Given the description of an element on the screen output the (x, y) to click on. 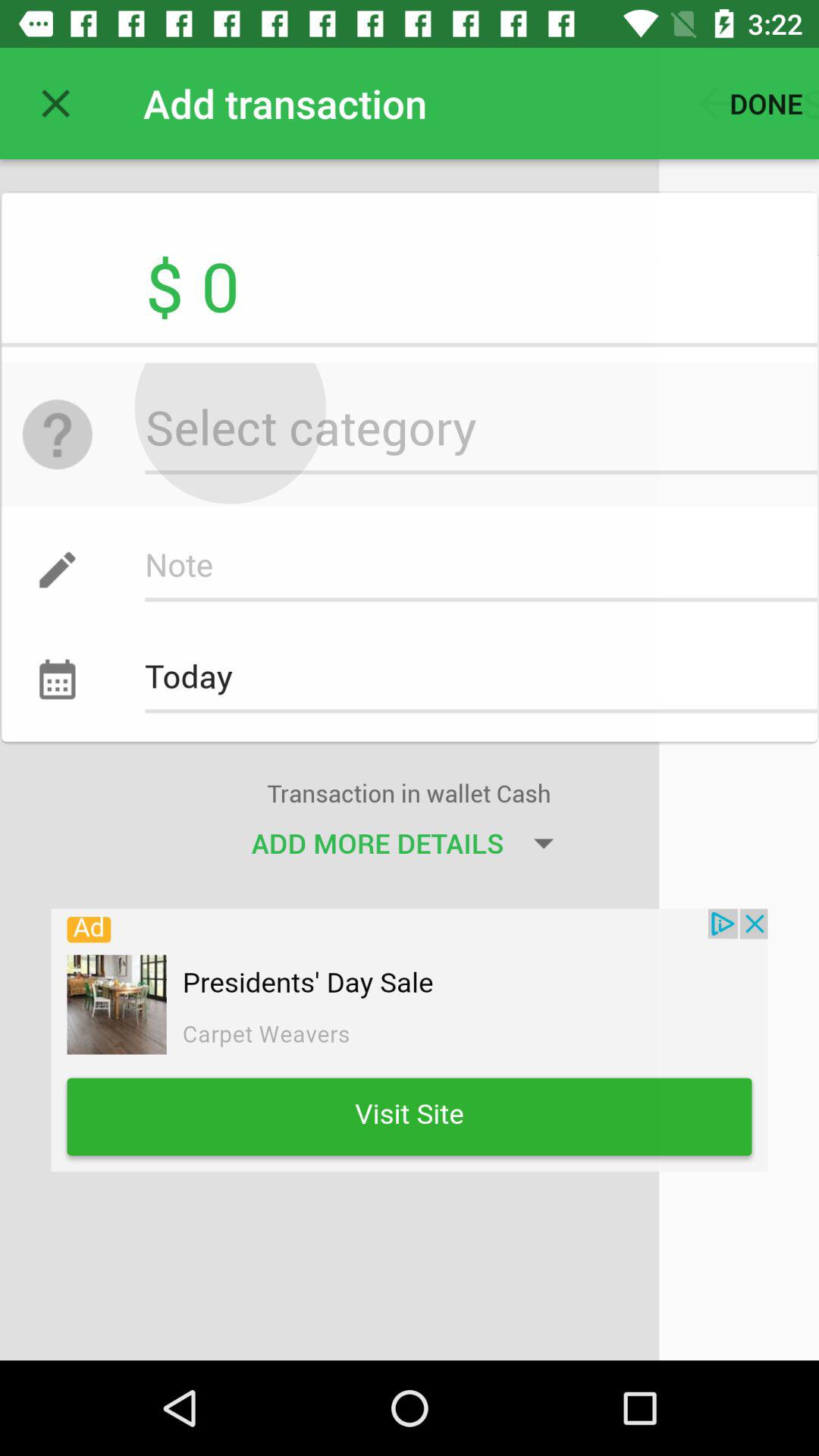
select the calendar date option (71, 660)
select the edit icon above the today icon (47, 596)
